Given the description of an element on the screen output the (x, y) to click on. 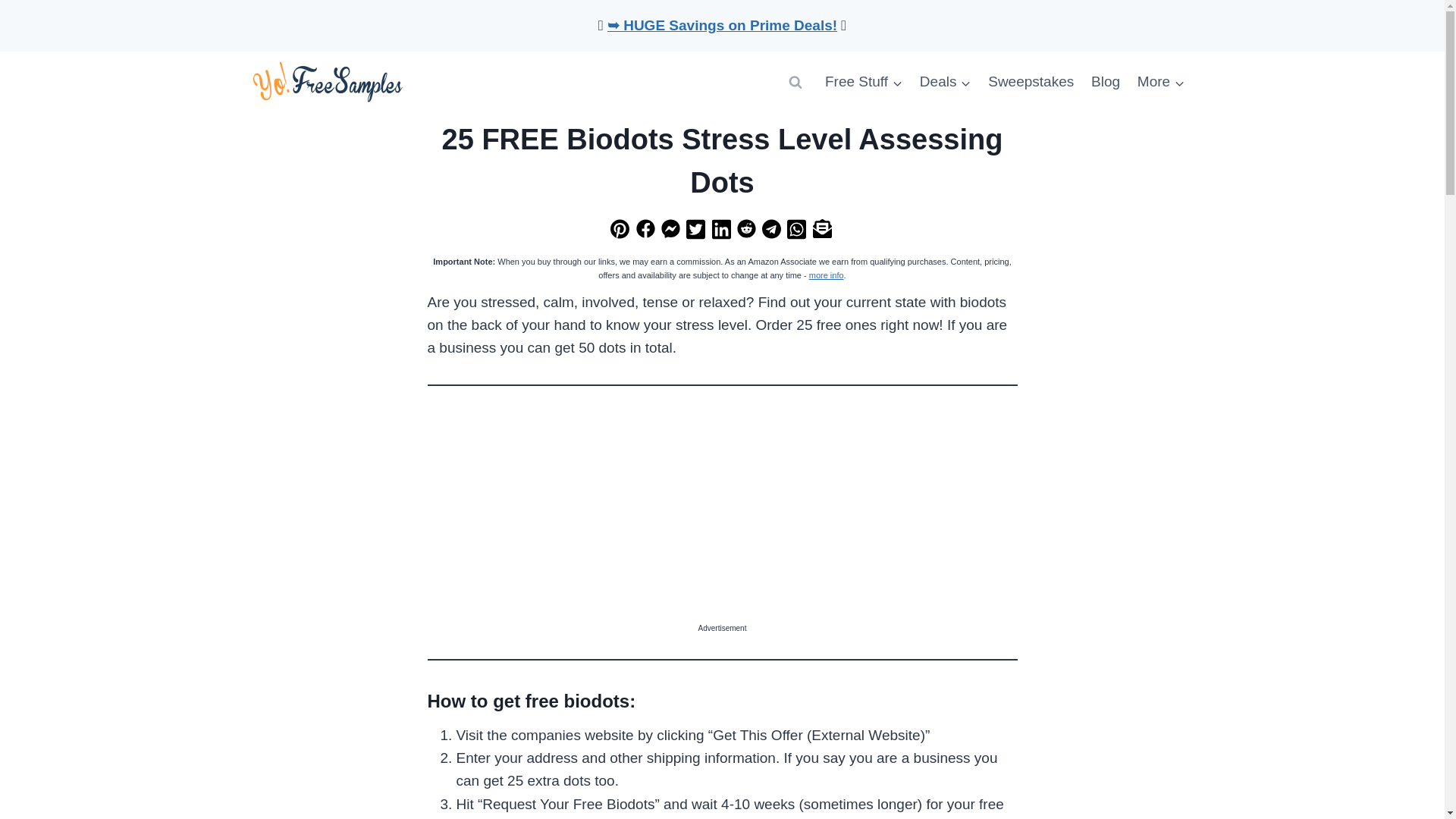
Sweepstakes (1031, 82)
Free Stuff (863, 82)
Advertisement (722, 516)
Deals (944, 82)
More (1160, 82)
Blog (1106, 82)
